Given the description of an element on the screen output the (x, y) to click on. 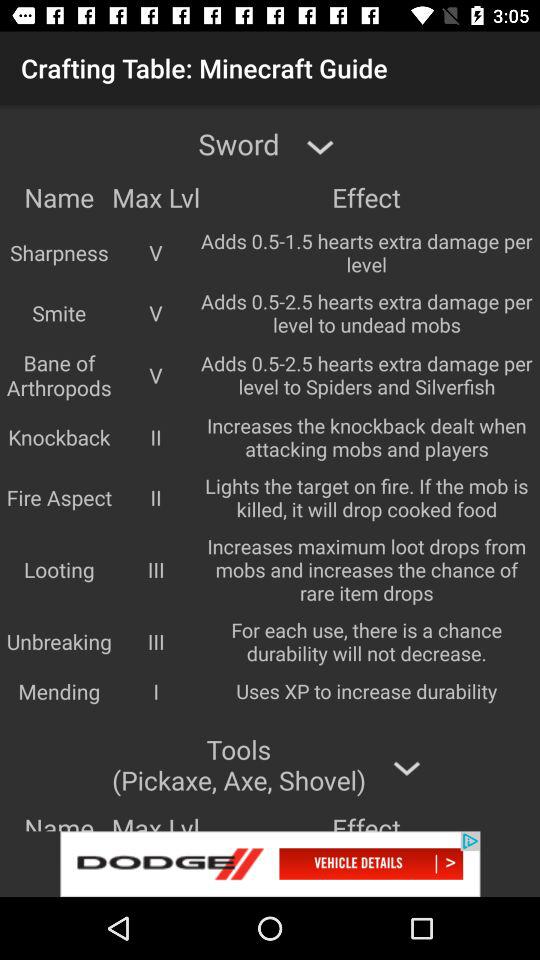
this add information (270, 864)
